Given the description of an element on the screen output the (x, y) to click on. 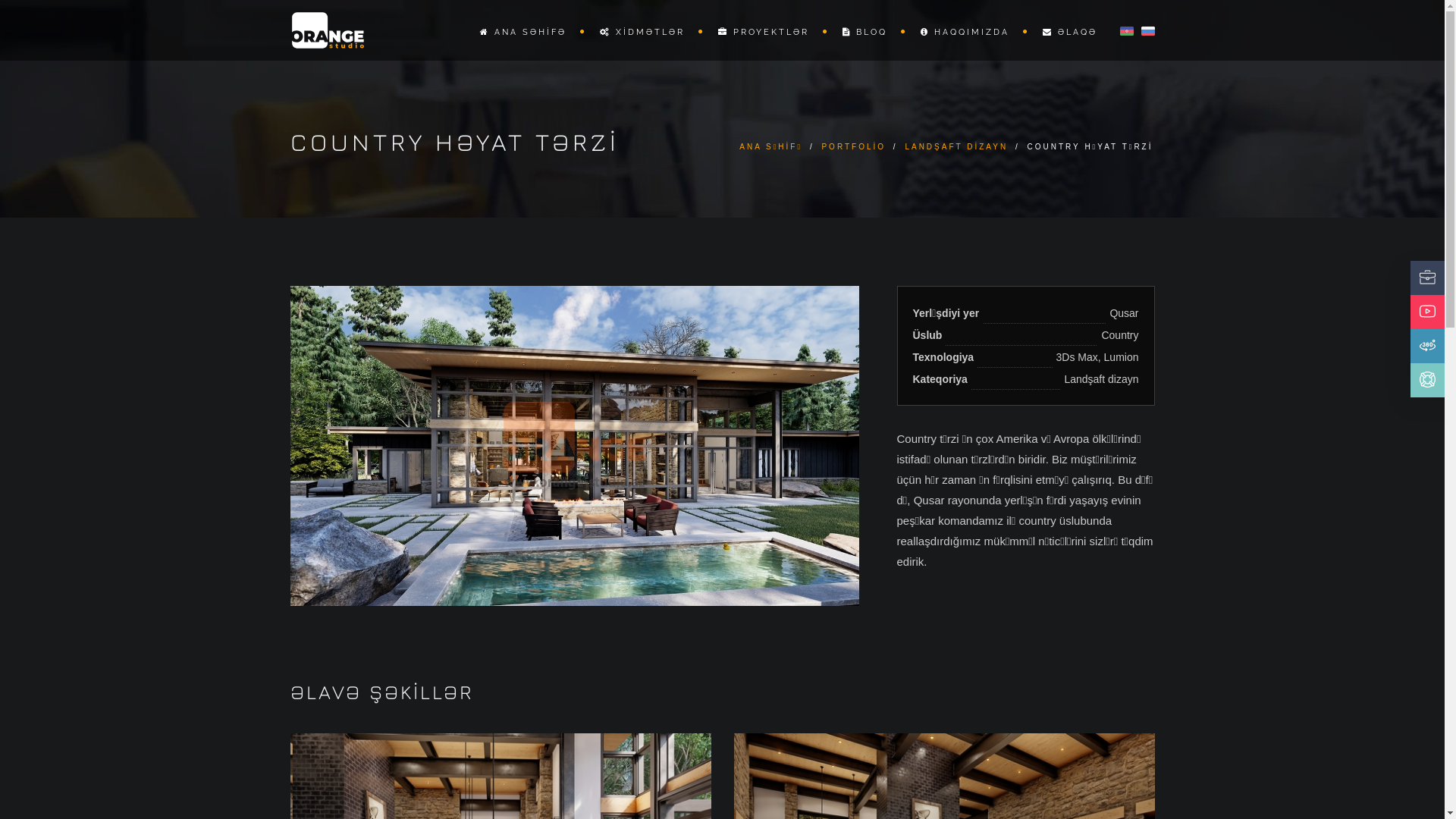
BLOQ Element type: text (867, 32)
PORTFOLIO Element type: text (853, 146)
HAQQIMIZDA Element type: text (967, 32)
az Element type: hover (1125, 30)
ru Element type: hover (1147, 30)
